Given the description of an element on the screen output the (x, y) to click on. 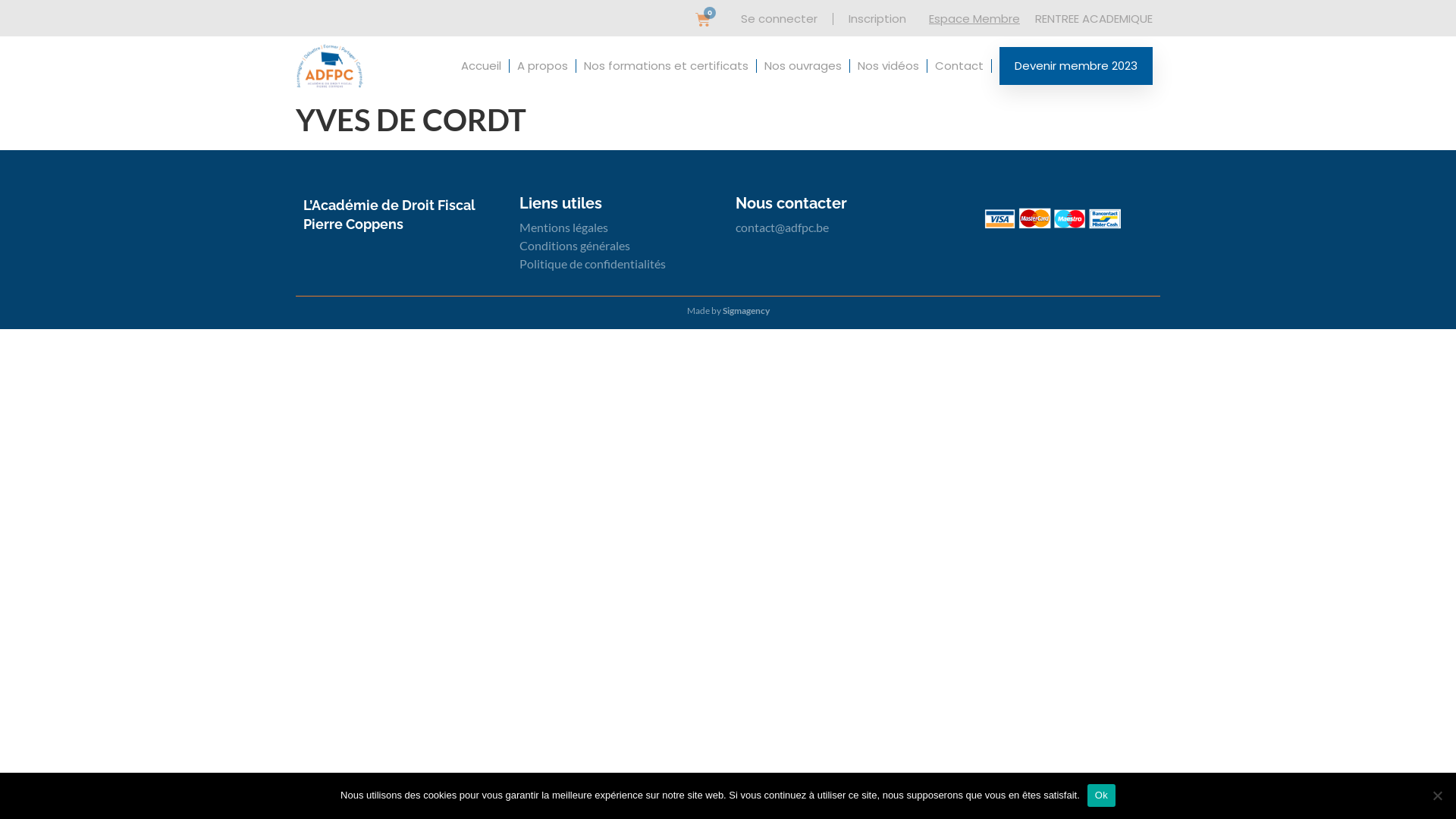
Contact Element type: text (959, 65)
Devenir membre 2023 Element type: text (1075, 65)
Se connecter Element type: text (778, 18)
RENTREE ACADEMIQUE Element type: text (1093, 17)
Non Element type: hover (1436, 795)
Nos formations et certificats Element type: text (666, 65)
0 Element type: text (702, 19)
Ok Element type: text (1101, 795)
Sigmagency Element type: text (744, 310)
Inscription Element type: text (877, 18)
Accueil Element type: text (480, 65)
contact@adfpc.be Element type: text (781, 226)
Espace Membre Element type: text (973, 17)
Nos ouvrages Element type: text (802, 65)
A propos Element type: text (542, 65)
